Given the description of an element on the screen output the (x, y) to click on. 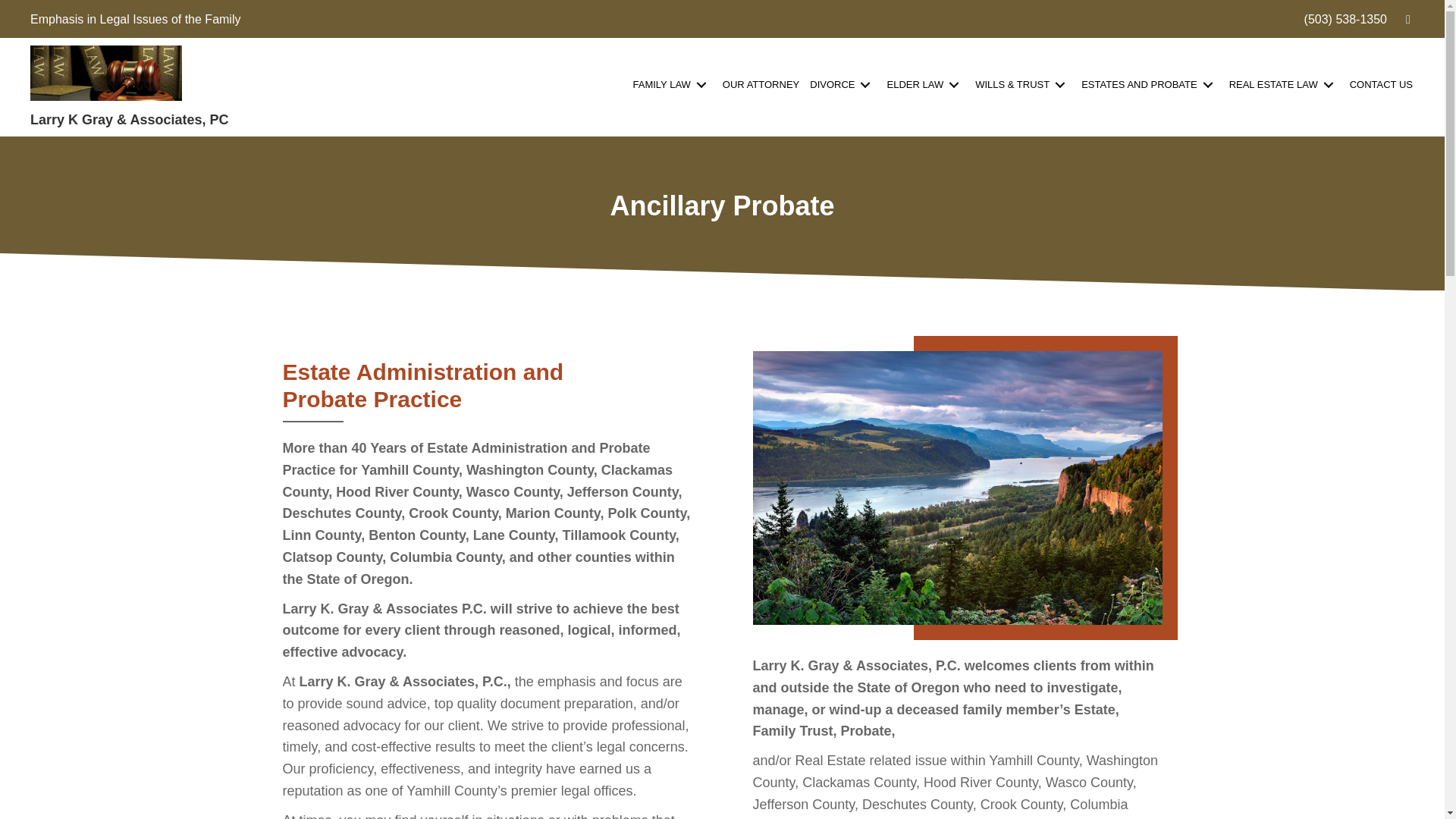
ESTATES AND PROBATE (1150, 84)
FAMILY LAW (671, 84)
ELDER LAW (925, 84)
DIVORCE (842, 84)
09b0ddd6c4c5b624f69d7e23e83b6a38 (956, 487)
OUR ATTORNEY (760, 84)
REAL ESTATE LAW (1283, 84)
